Given the description of an element on the screen output the (x, y) to click on. 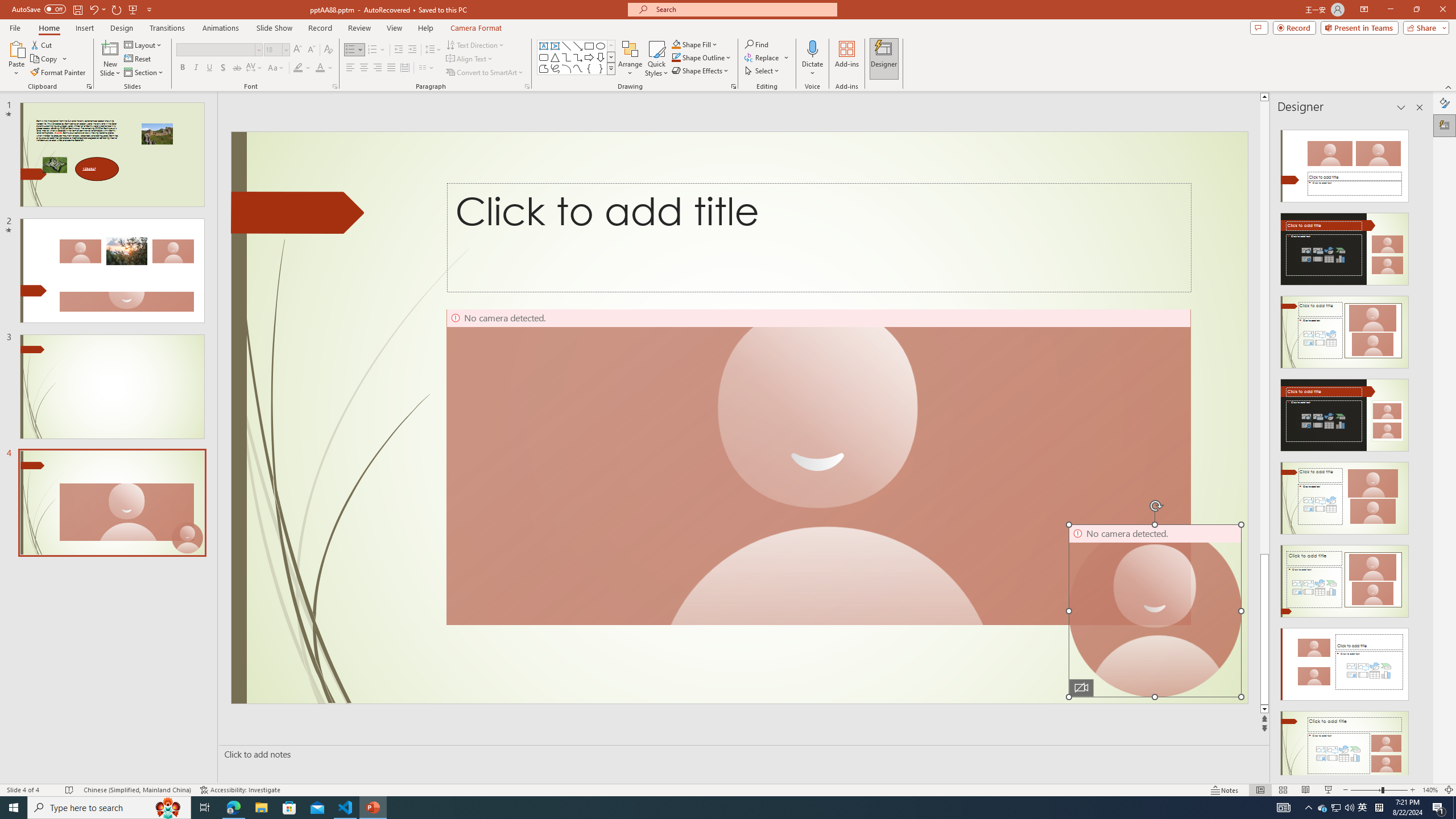
Shape Fill Aqua, Accent 2 (675, 44)
